Given the description of an element on the screen output the (x, y) to click on. 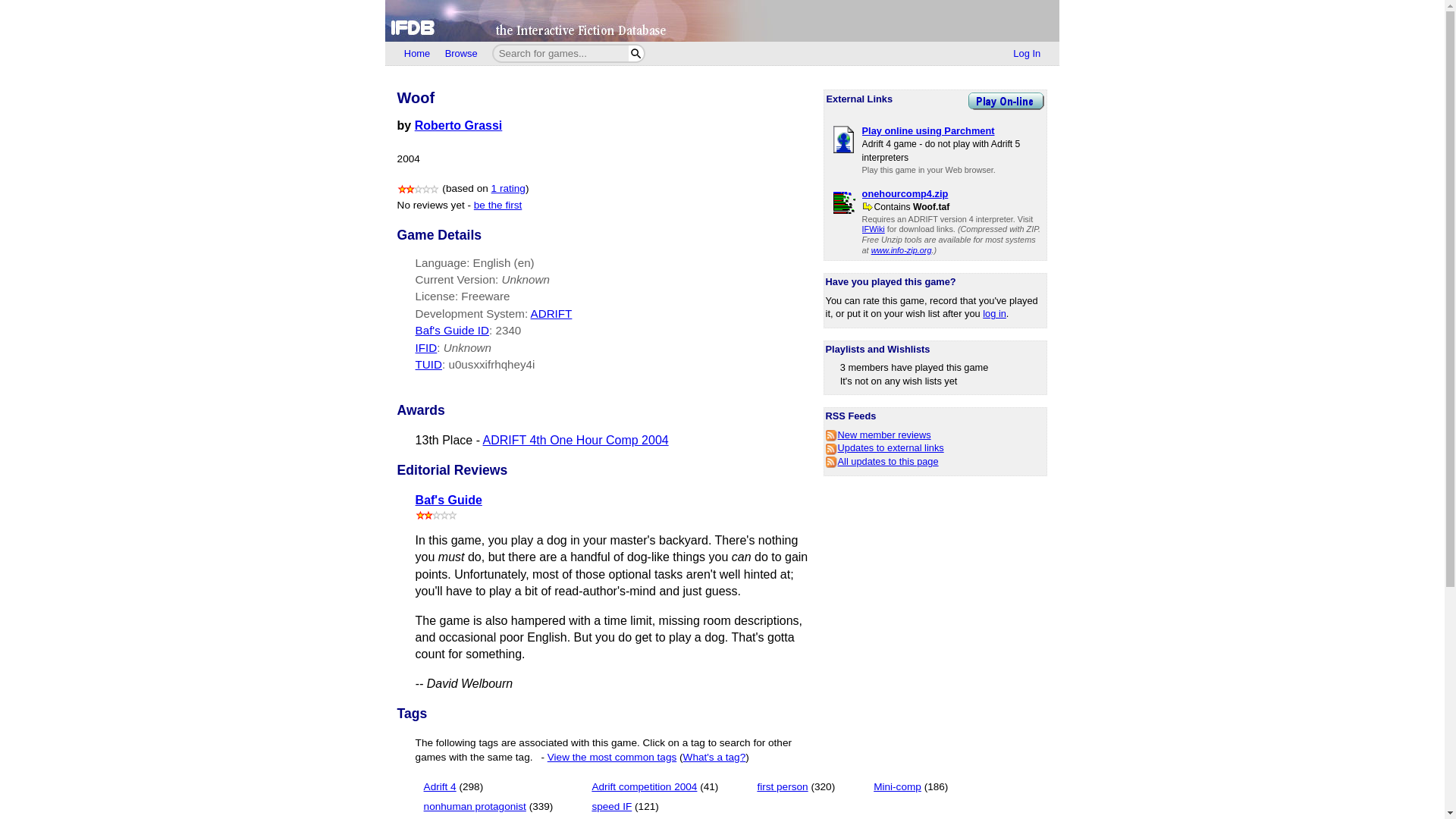
What's a tag? (713, 756)
Roberto Grassi (458, 124)
Home (417, 53)
speed IF (611, 806)
2 Stars (436, 515)
Go to the Baf's Guide listing for this game (508, 329)
nonhuman protagonist (474, 806)
All updates to this page (882, 460)
Go to Baf's Guide to the IF Archive (447, 499)
View the most common tags (612, 756)
121 games have this tag (646, 806)
Browse (461, 53)
It's not on any wish lists yet (899, 380)
ADRIFT (551, 313)
Search for games tagged with Mini-comp (910, 786)
